Given the description of an element on the screen output the (x, y) to click on. 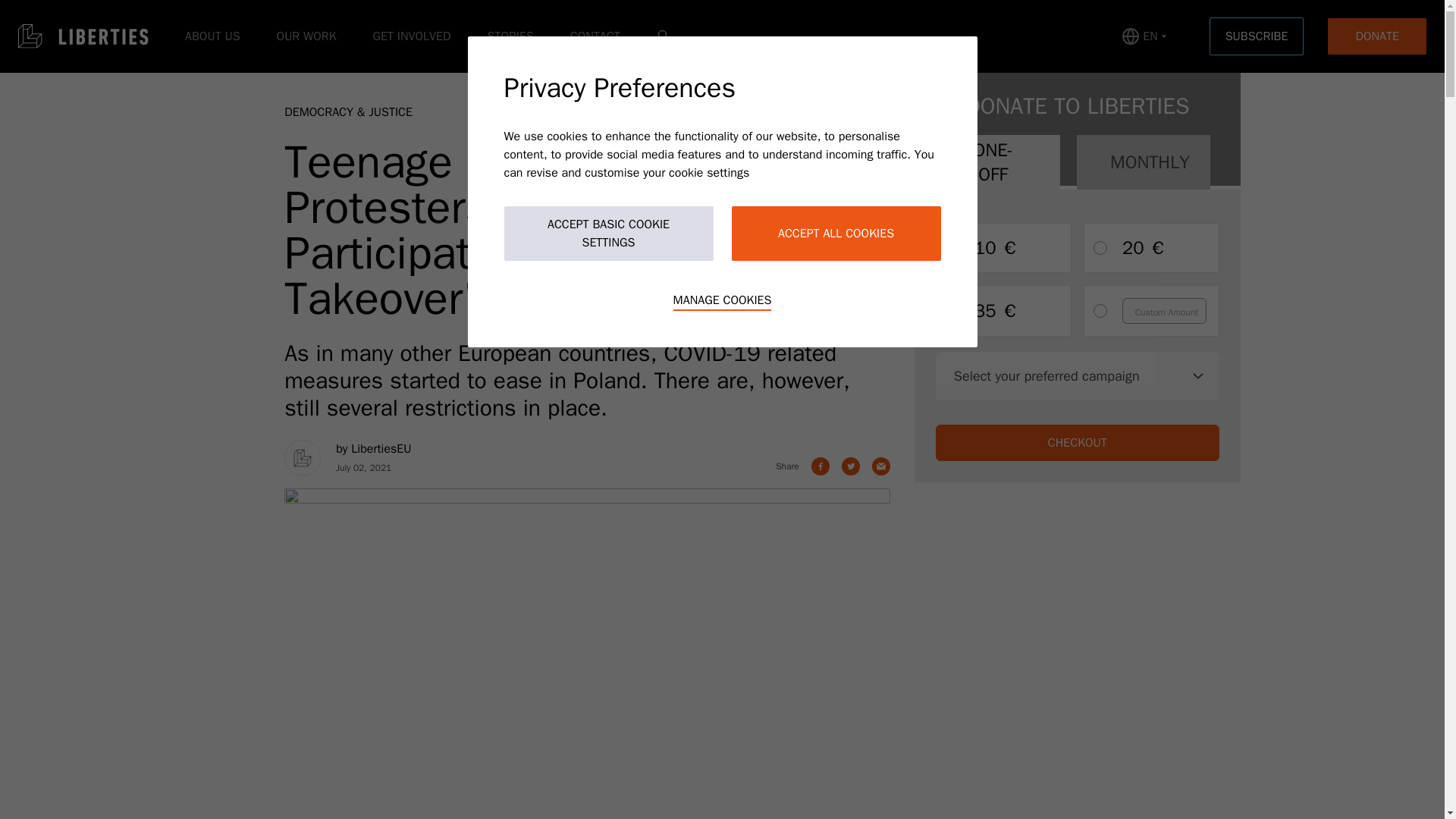
SUBSCRIBE (1256, 36)
CONTACT (595, 36)
GET INVOLVED (411, 36)
on (1099, 247)
on (1099, 310)
DONATE (1376, 36)
OUR WORK (306, 36)
STORIES (509, 36)
on (951, 310)
EN (1144, 36)
